Given the description of an element on the screen output the (x, y) to click on. 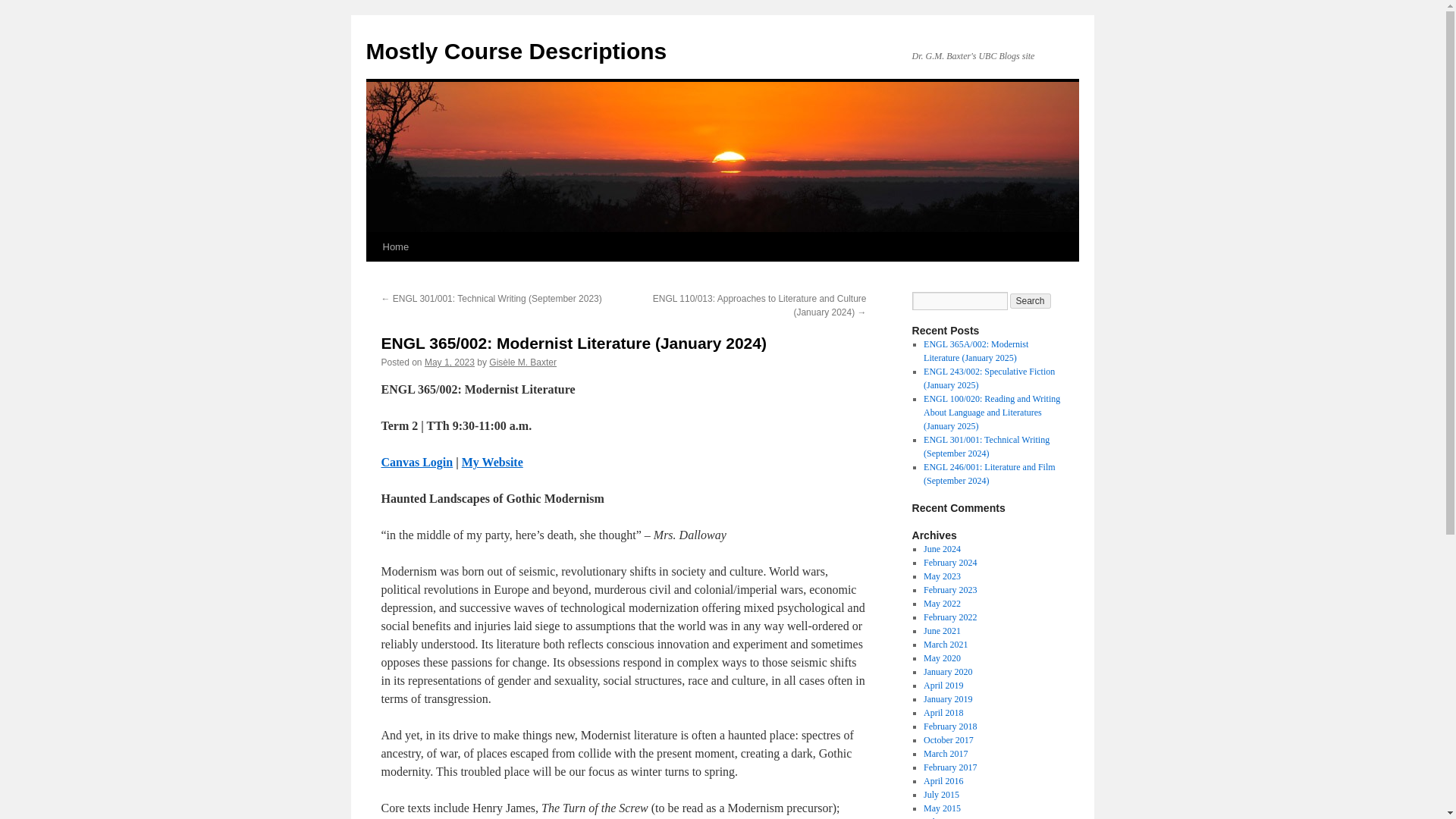
May 1, 2023 (449, 362)
February 2024 (949, 562)
Search (1030, 300)
Mostly Course Descriptions (515, 50)
3:35 pm (449, 362)
My Website (491, 461)
Mostly Course Descriptions (515, 50)
Home (395, 246)
Canvas Login (416, 461)
Search (1030, 300)
June 2024 (941, 548)
May 2023 (941, 575)
